Given the description of an element on the screen output the (x, y) to click on. 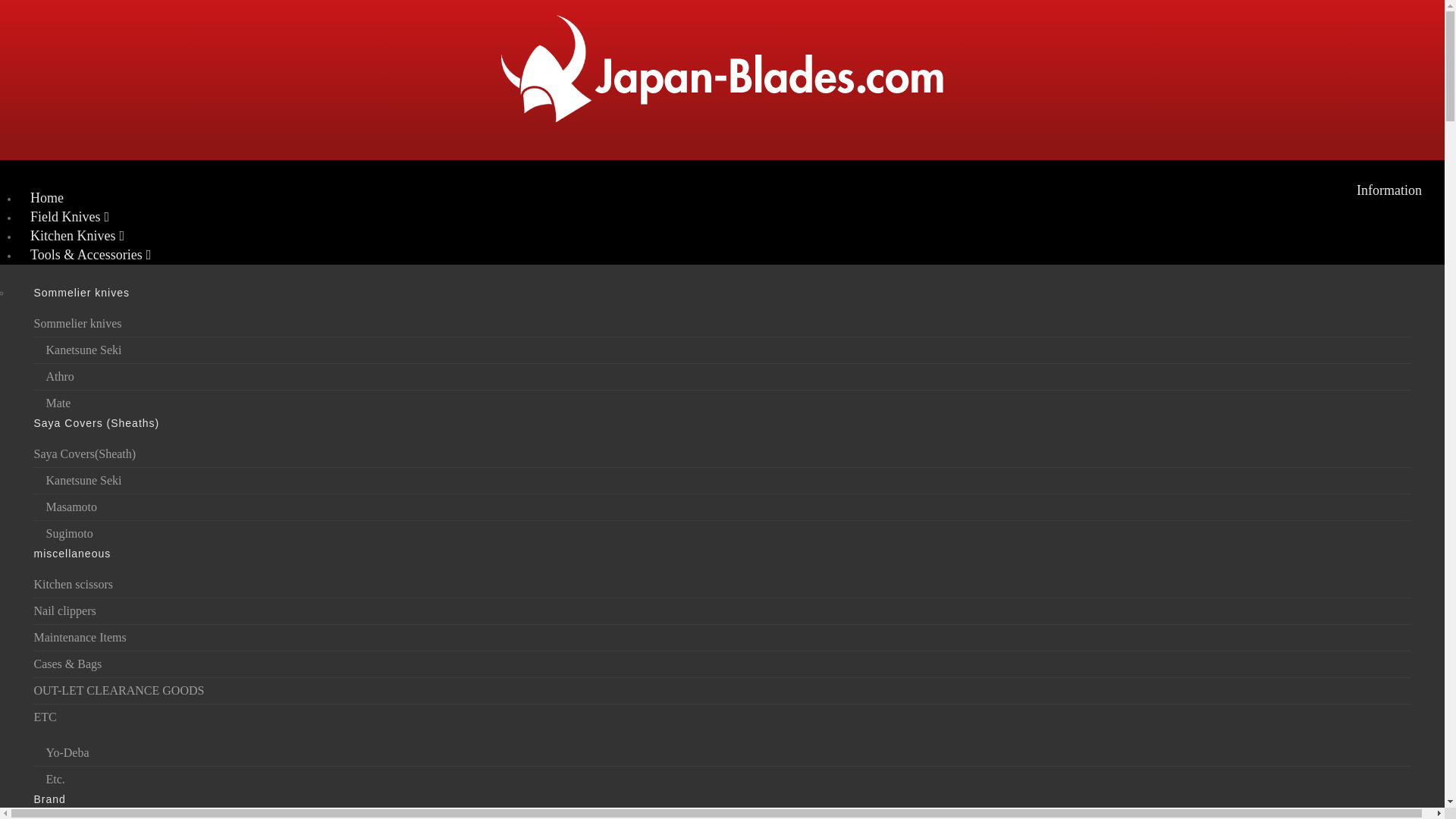
Single bevel edge (721, 376)
Go to the Kitchen Knives Product category archives. (143, 301)
MOKI (721, 741)
Fixed (721, 324)
Home (46, 197)
Fuisuko (721, 637)
Go to Products. (73, 301)
Kanetsune Seki (721, 427)
Go to the Western Style Product category archives. (224, 301)
Usubagata (721, 646)
OUT-LET CLEARANCE GOODS (721, 768)
Takeshi Saji (721, 507)
Tsuge (721, 454)
Information (1388, 189)
Yo-Deba (721, 753)
